Given the description of an element on the screen output the (x, y) to click on. 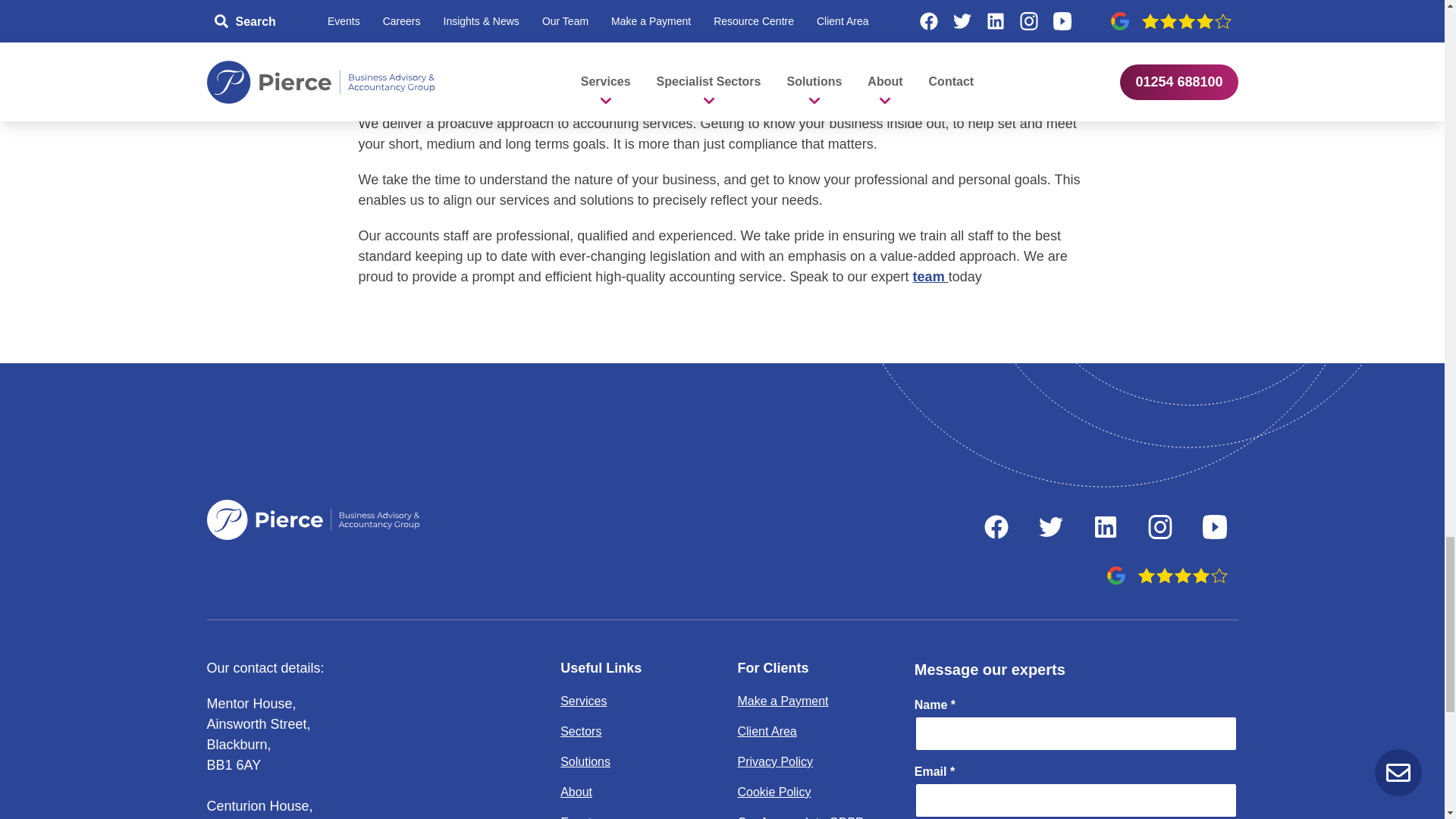
Pierce Business Advisory and Accountancy Group - Youtube (1214, 526)
Pierce Business Advisory and Accountancy Group - Instagram (1158, 526)
Pierce Business Advisory and Accountancy Group - Twitter (1050, 526)
Pierce Business Advisory and Accountancy Group - Linkedin (1104, 526)
Pierce Business Advisory and Accountancy Group - Facebook (995, 526)
